Given the description of an element on the screen output the (x, y) to click on. 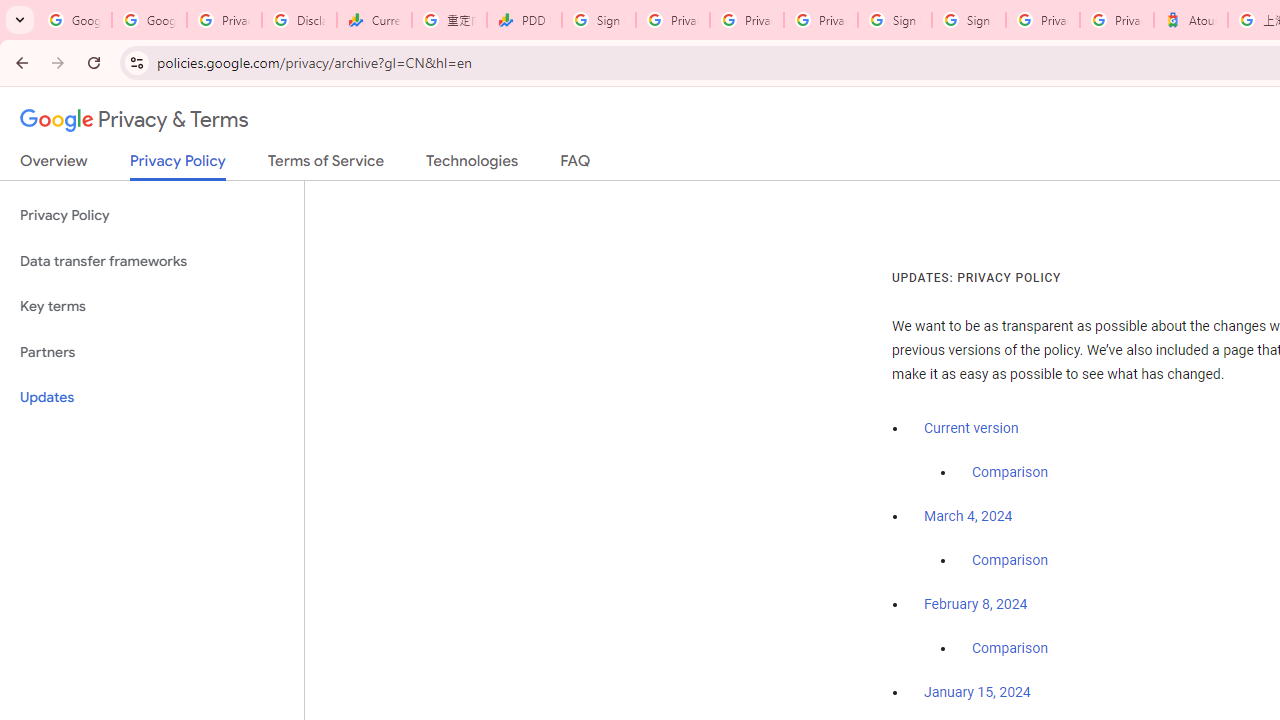
Technologies (472, 165)
March 4, 2024 (968, 517)
January 15, 2024 (977, 693)
Atour Hotel - Google hotels (1190, 20)
Google Workspace Admin Community (74, 20)
February 8, 2024 (975, 605)
FAQ (575, 165)
Comparison (1009, 649)
Partners (152, 352)
Privacy Checkup (747, 20)
